Given the description of an element on the screen output the (x, y) to click on. 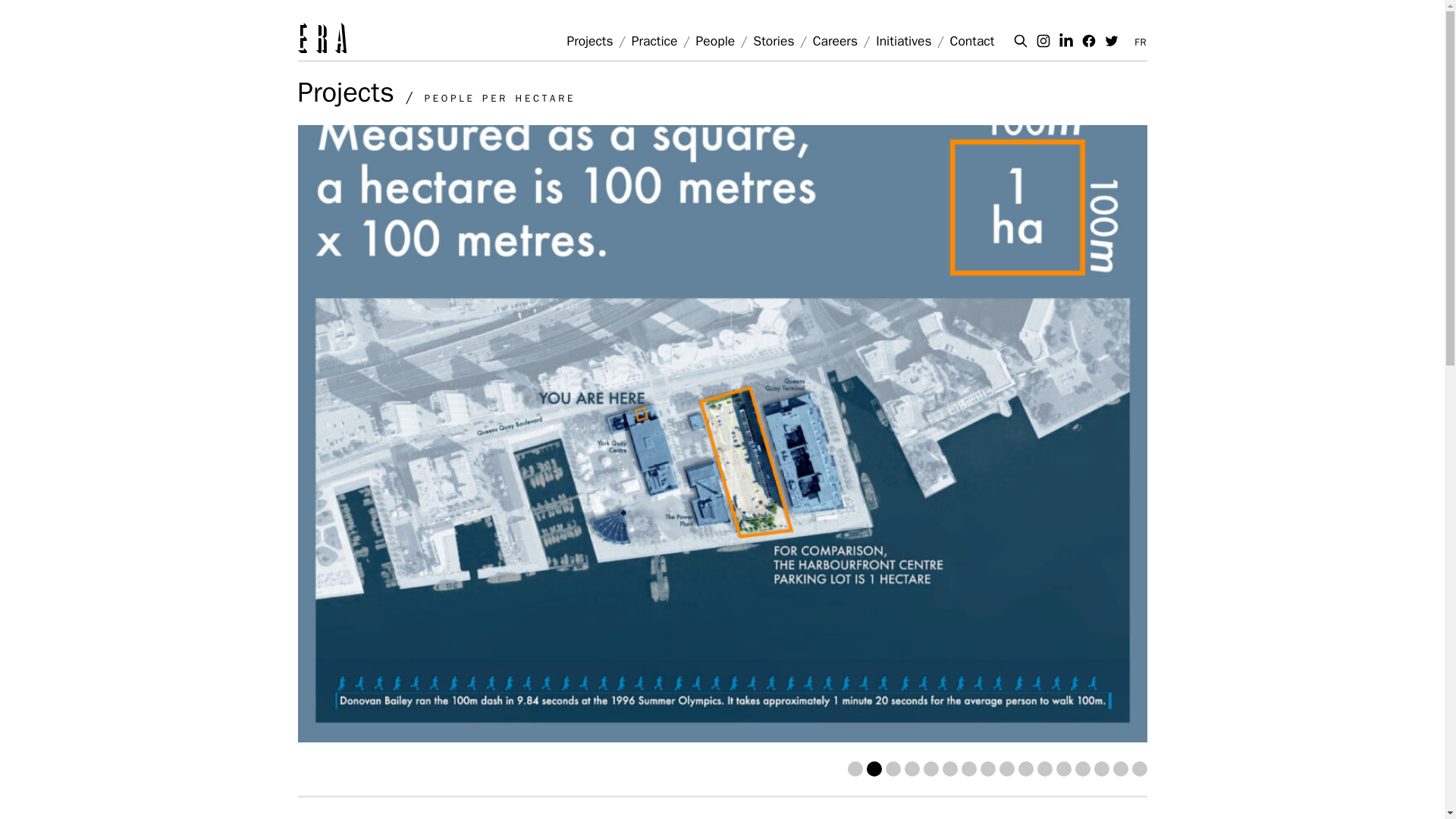
Careers (834, 40)
Initiatives (903, 40)
LinkedIn (1066, 40)
Practice (654, 40)
View slide 3 (893, 768)
View slide 6 (949, 768)
Facebook (1088, 40)
Twitter (1111, 40)
Contact (972, 40)
Projects (589, 40)
View slide 8 (986, 768)
People (715, 40)
Projects (345, 92)
View slide 1 (855, 768)
View slide 7 (968, 768)
